Given the description of an element on the screen output the (x, y) to click on. 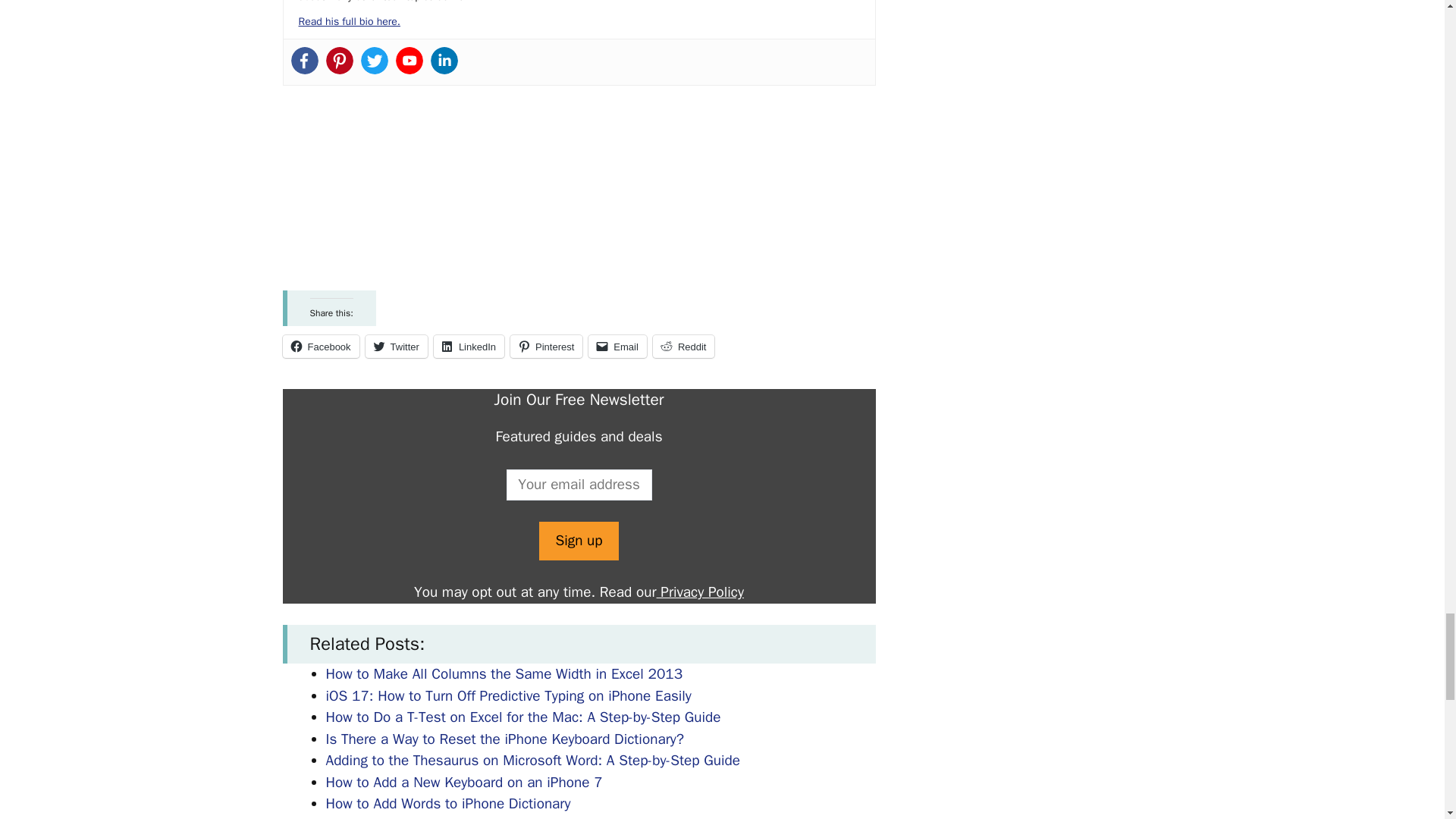
Twitter (374, 60)
iOS 17: How to Turn Off Predictive Typing on iPhone Easily (508, 696)
How to Make All Columns the Same Width in Excel 2013 (504, 674)
Email (617, 345)
Facebook (320, 345)
Linkedin (444, 60)
How to Make All Columns the Same Width in Excel 2013 (504, 674)
How to Add a New Keyboard on an iPhone 7 (464, 782)
Click to share on Facebook (320, 345)
Click to share on LinkedIn (468, 345)
Click to share on Pinterest (546, 345)
Privacy Policy (700, 592)
